Given the description of an element on the screen output the (x, y) to click on. 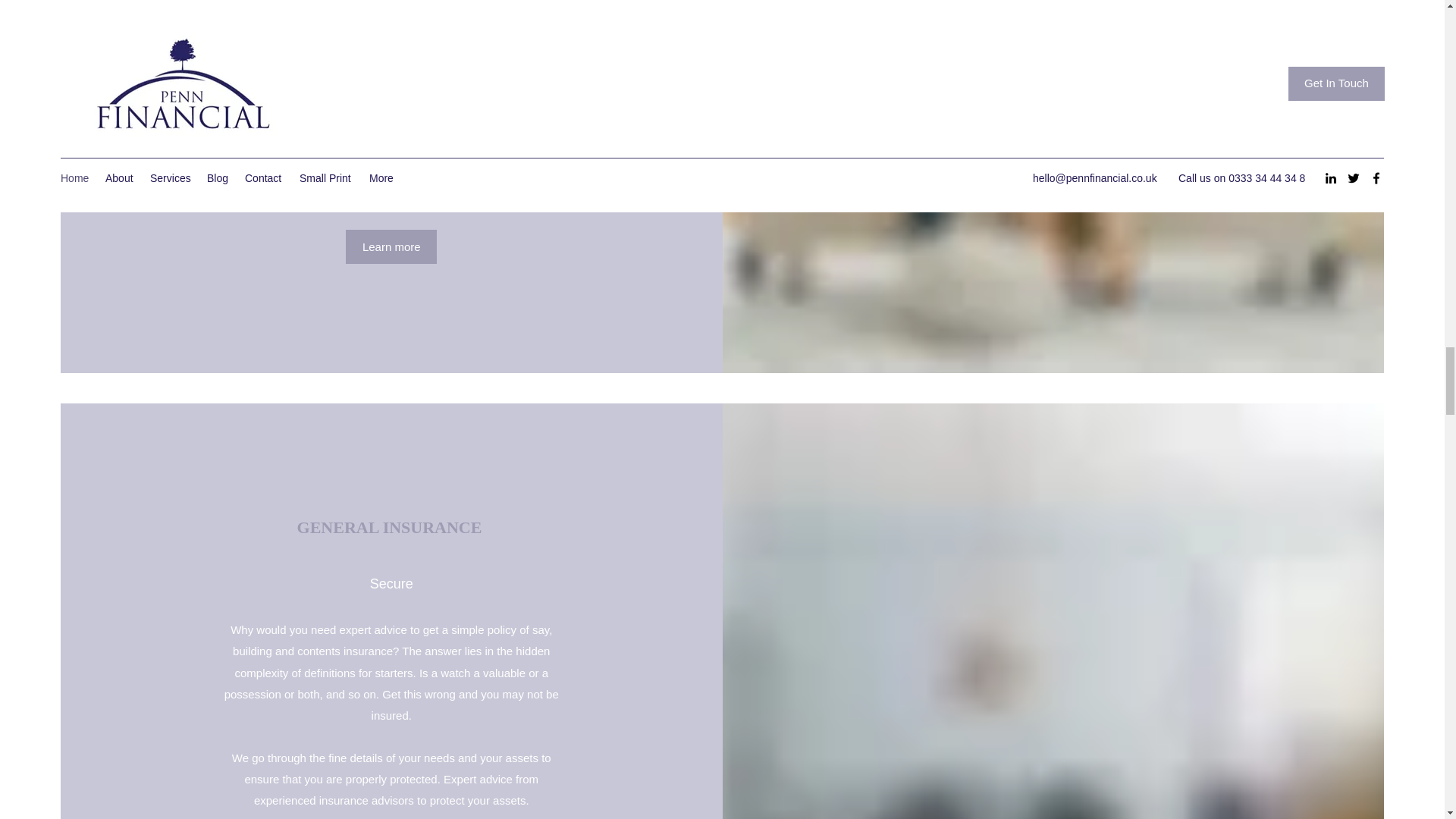
Learn more (391, 246)
